Given the description of an element on the screen output the (x, y) to click on. 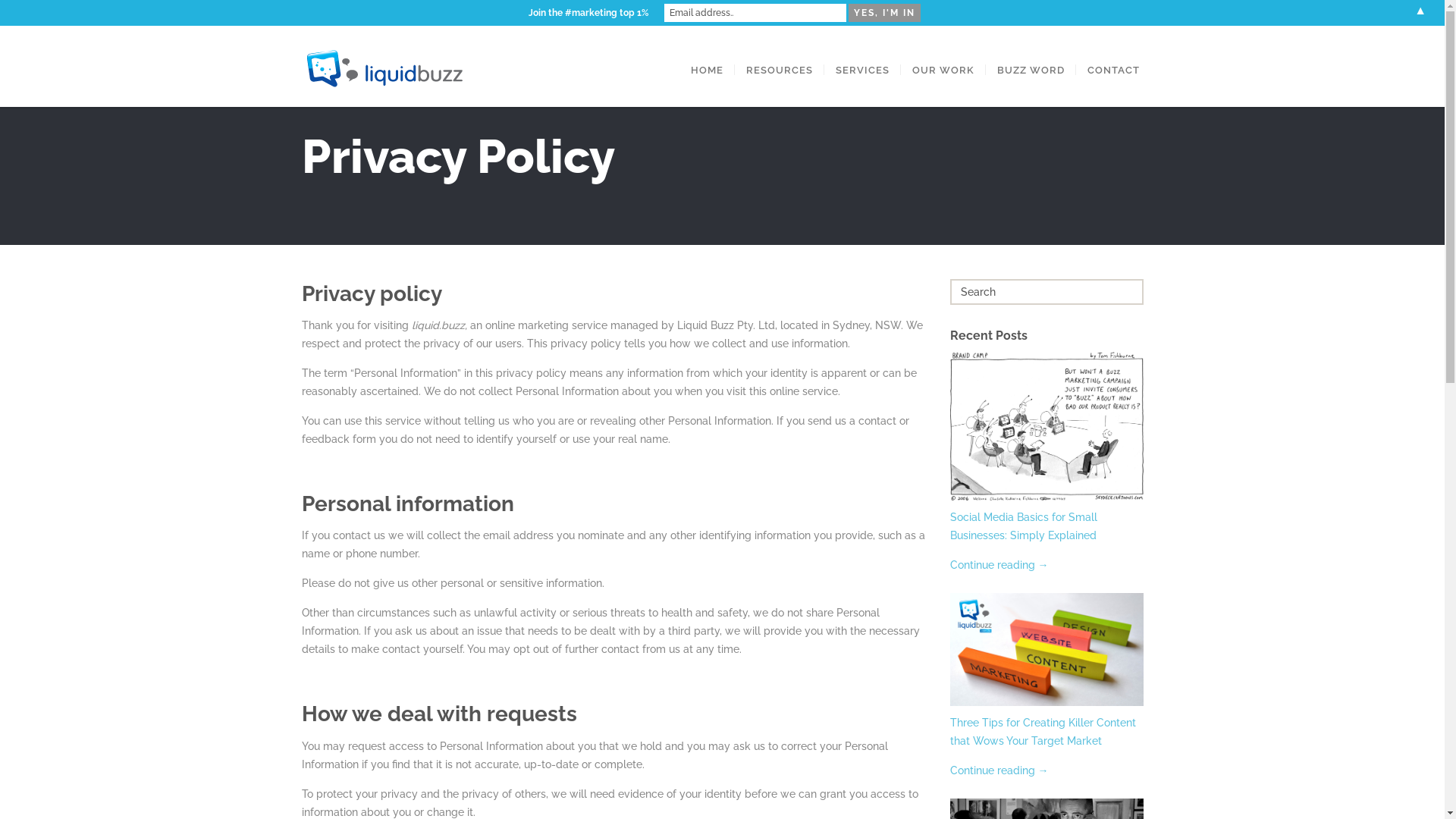
CONTACT Element type: text (1112, 69)
Social Media Basics for Small Businesses: Simply Explained Element type: text (1022, 526)
BUZZ WORD Element type: text (1030, 69)
HOME Element type: text (706, 69)
OUR WORK Element type: text (942, 69)
SERVICES Element type: text (861, 69)
Yes, I'm in Element type: text (884, 12)
Search Element type: text (36, 15)
RESOURCES Element type: text (778, 69)
